Given the description of an element on the screen output the (x, y) to click on. 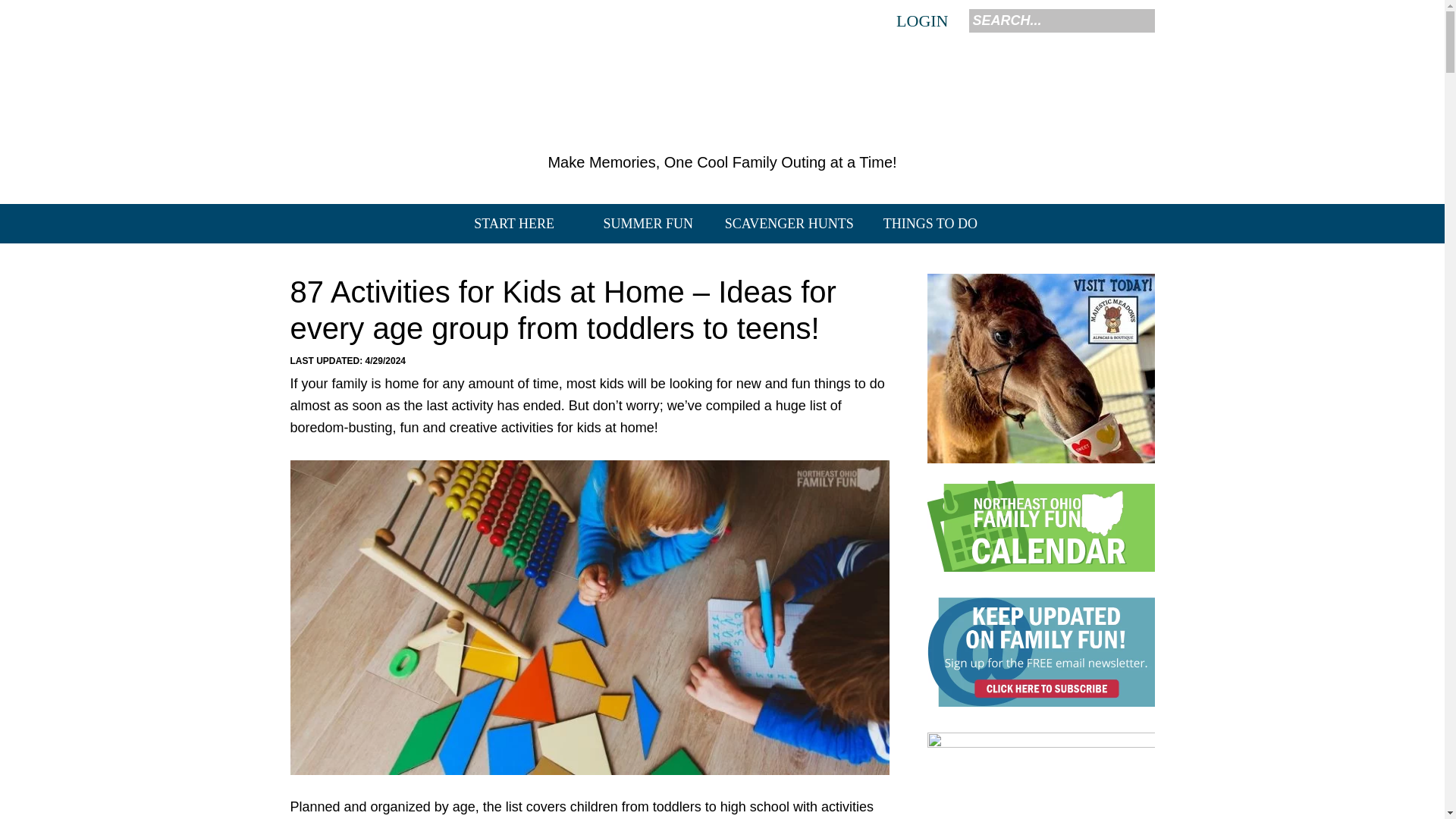
Northeast Ohio Family Fun (721, 96)
SUMMER FUN (648, 223)
THINGS TO DO (929, 223)
SCAVENGER HUNTS (789, 223)
LOGIN (921, 21)
START HERE (514, 223)
